Given the description of an element on the screen output the (x, y) to click on. 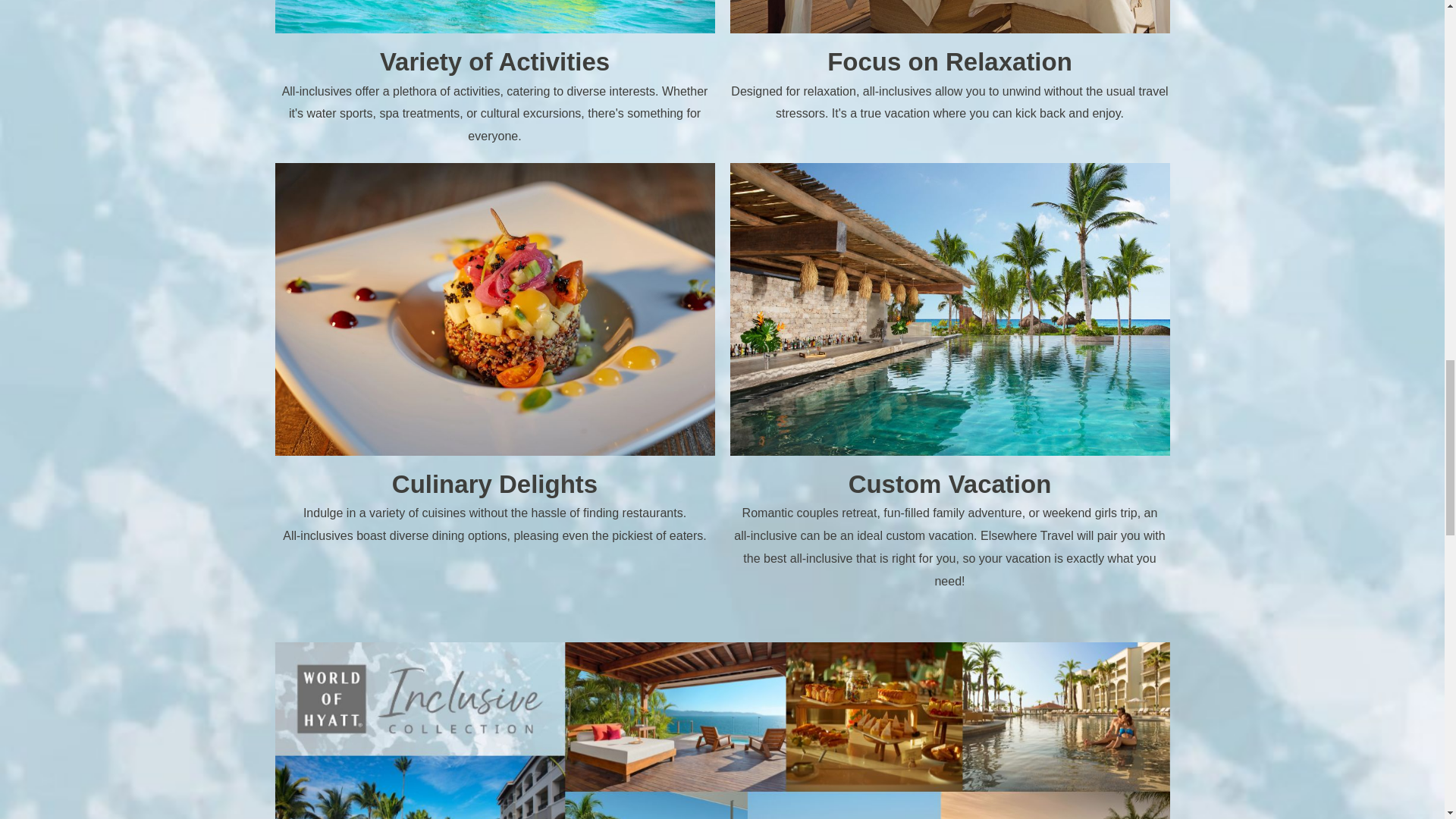
Web all-inclusives excursions (494, 17)
